Given the description of an element on the screen output the (x, y) to click on. 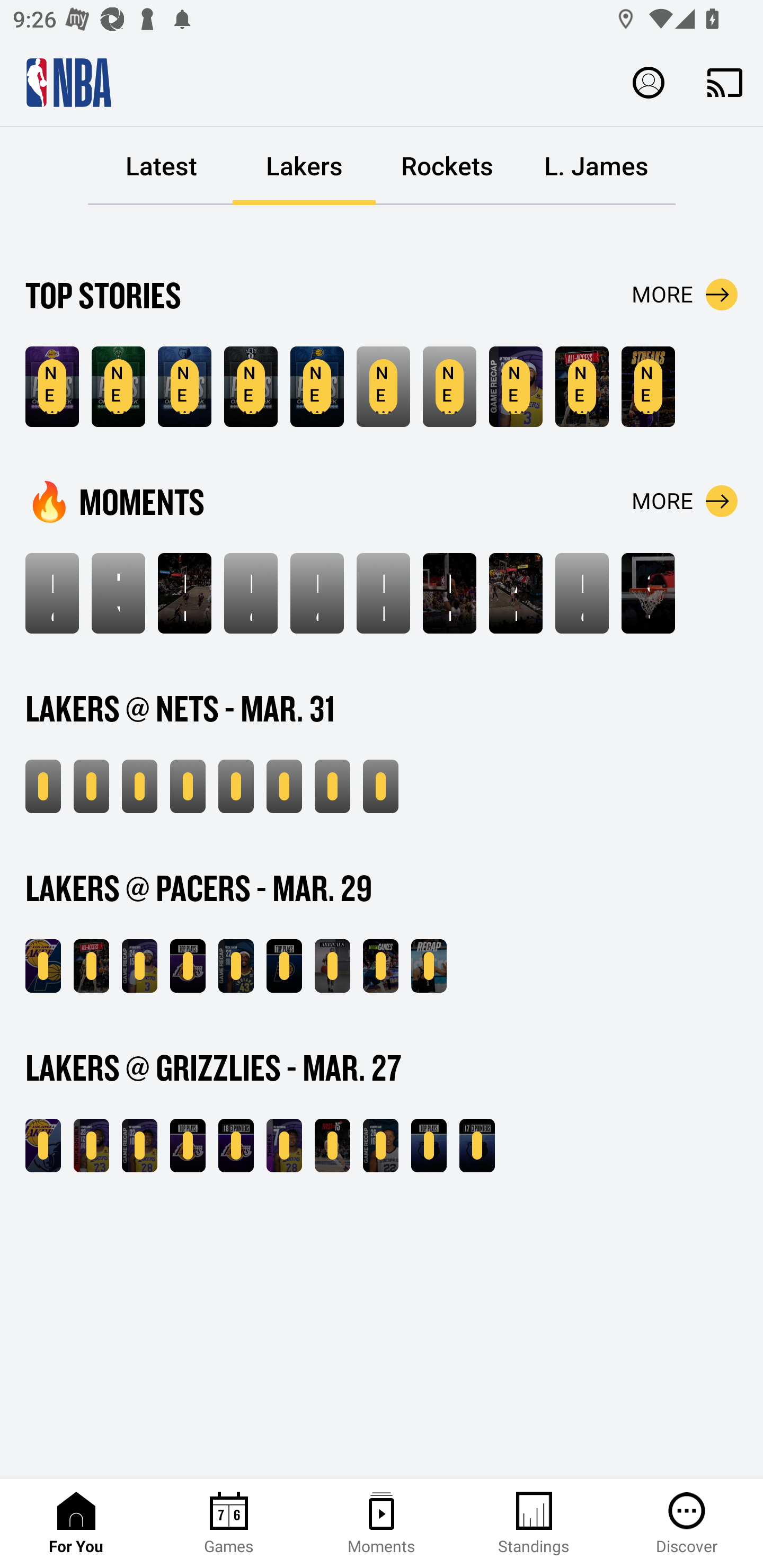
Cast. Disconnected (724, 82)
Profile (648, 81)
Latest (160, 166)
Rockets (446, 166)
L. James (595, 166)
MORE (684, 294)
NEW LAL's Top Plays of Week 23 (51, 386)
NEW MIL's Top Plays of Week 23 (117, 386)
NEW MEM's Top Plays of Week 23 (184, 386)
NEW BKN's Top Plays of Week 23 (250, 386)
NEW IND's Top Plays of Week 23 (317, 386)
Cam Thomas vs. LeBron James Battle NEW (383, 386)
Lakers Visit Nets In Brooklyn 🌉 NEW (449, 386)
Highlights From Anthony Davis's 24-Point Game NEW (515, 386)
Lakers, Pacers Battle In Indy NEW (581, 386)
Starring: The Lake Show NEW (648, 386)
MORE (684, 500)
LeBron's 40-Point Explosion In 40 Seconds (51, 593)
"Yeah, LeBron James!" 🗣️😂 (117, 593)
Rui Hachimura with the assist (184, 593)
LeBron James gets the 3 to fall (250, 593)
LeBron James with the 3-pointer (317, 593)
LBJ Hits The WILD 3 While Fading 👑 (383, 593)
Rui Hachimura rises to finish the alley-oop (449, 593)
Anthony Davis denies the attempt (515, 593)
LeBron James with the slam (581, 593)
3-pointer by D'Angelo Russell (648, 593)
NEW Lakers Visit Nets In Brooklyn 🌉 (43, 785)
NEW LAL @ BKN HIGHLIGHTS (91, 785)
NEW Highlights From LeBron James' 9-3-pointer Game (139, 785)
NEW LAL's Top Plays from LAL vs. BKN (187, 785)
NEW Cam Thomas vs. LeBron James Battle (236, 785)
Highlights From Cam Thomas' 30-Point Game NEW (284, 785)
BKN's Top Plays from LAL vs. BKN NEW (332, 785)
Sunday's Recap NEW (380, 785)
NEW LAL @ IND HIGHLIGHTS (43, 965)
NEW Lakers, Pacers Battle In Indy (91, 965)
NEW Highlights From Anthony Davis's 24-Point Game (139, 965)
NEW LAL's Top Plays from LAL vs. IND (187, 965)
NEW Highlights From Pascal Siakam's 22-Point Game (236, 965)
IND's Top Plays from LAL vs. IND NEW (284, 965)
Friday Night Fashion 😎 NEW (332, 965)
Lakers-Pacers On NBA TV 📺 NEW (380, 965)
Friday's Recap NEW (428, 965)
NEW LAL @ MEM HIGHLIGHTS (43, 1145)
NEW Highlights from LeBron James' Triple-Double (91, 1145)
NEW Highlights From Rui Hachimura's 32-Point Game (139, 1145)
NEW LAL's Top Plays from LAL vs. MEM (187, 1145)
NEW All 3's from LAL's 18 3-Pointer Night (236, 1145)
First to 15 Mar. 27th NEW (332, 1145)
Highlights From Desmond Bane's 26-Point Game NEW (380, 1145)
MEM's Top Plays from LAL vs. MEM NEW (428, 1145)
All 3's from MEM's 17 3-Pointer Night NEW (477, 1145)
Games (228, 1523)
Moments (381, 1523)
Standings (533, 1523)
Discover (686, 1523)
